Given the description of an element on the screen output the (x, y) to click on. 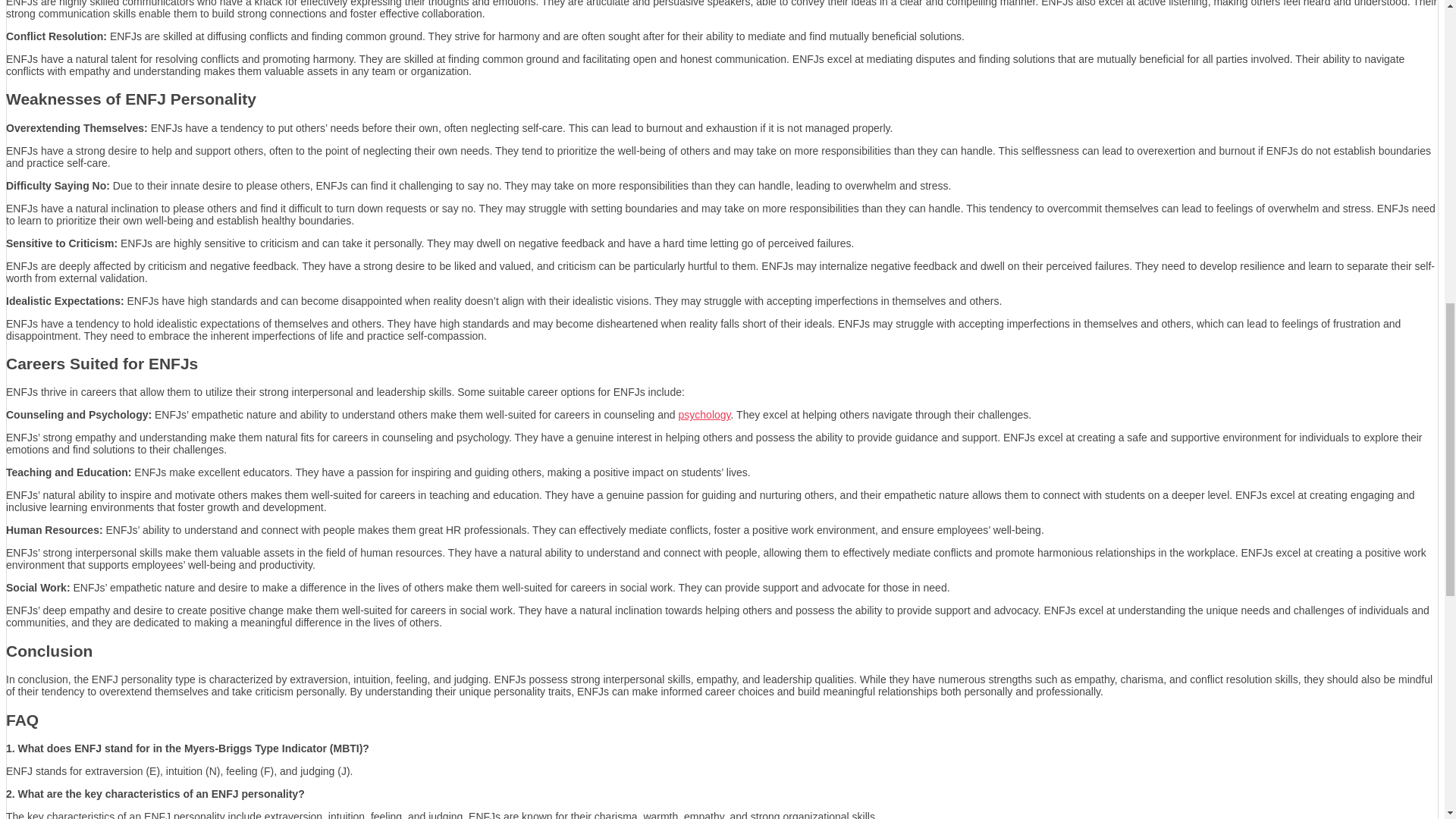
psychology (704, 414)
